Given the description of an element on the screen output the (x, y) to click on. 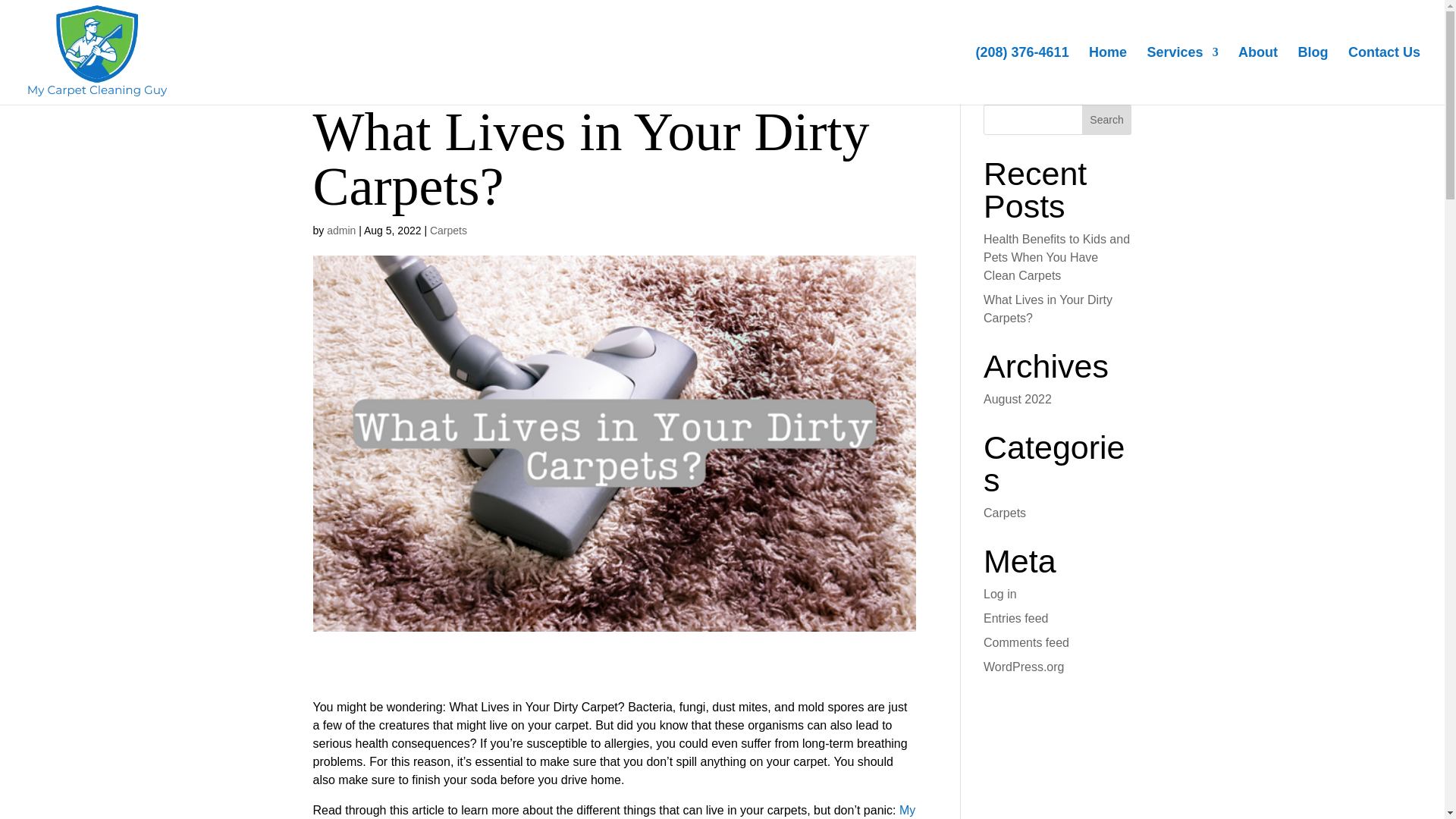
Carpets (1005, 512)
Posts by admin (340, 230)
Search (1106, 119)
August 2022 (1017, 399)
Entries feed (1016, 617)
Carpets (448, 230)
Contact Us (1384, 75)
My Carpet Cleaning Guy (614, 811)
What Lives in Your Dirty Carpets? (1048, 308)
Health Benefits to Kids and Pets When You Have Clean Carpets (1056, 256)
